Given the description of an element on the screen output the (x, y) to click on. 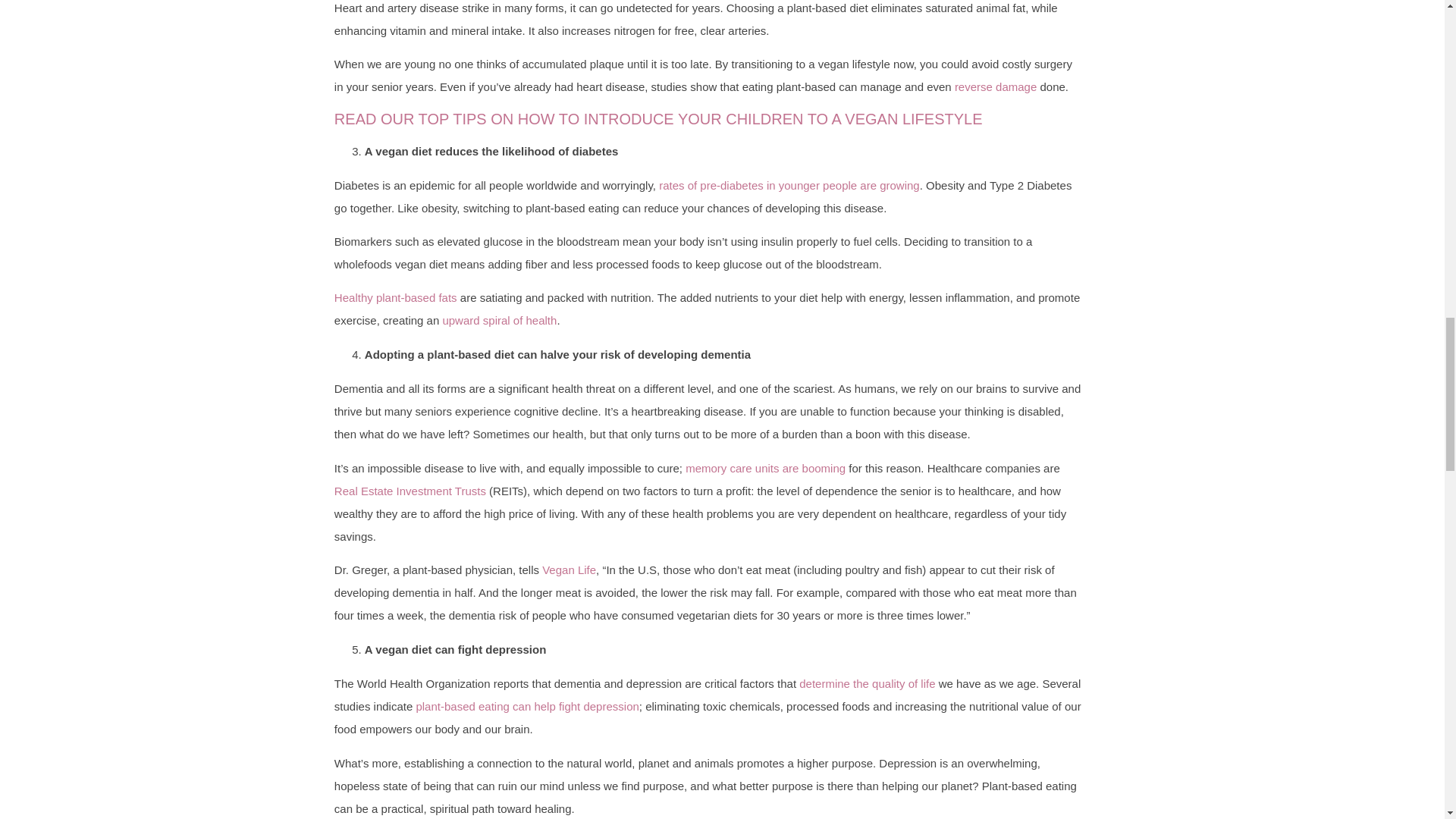
Real Estate Investment Trusts (410, 490)
Healthy plant-based fats (395, 297)
upward spiral of health (499, 319)
determine the quality of life (866, 683)
Vegan Life (568, 569)
memory care units are booming (765, 468)
rates of pre-diabetes in younger people are growing (789, 185)
reverse damage (995, 86)
plant-based eating can help fight depression (526, 706)
